Given the description of an element on the screen output the (x, y) to click on. 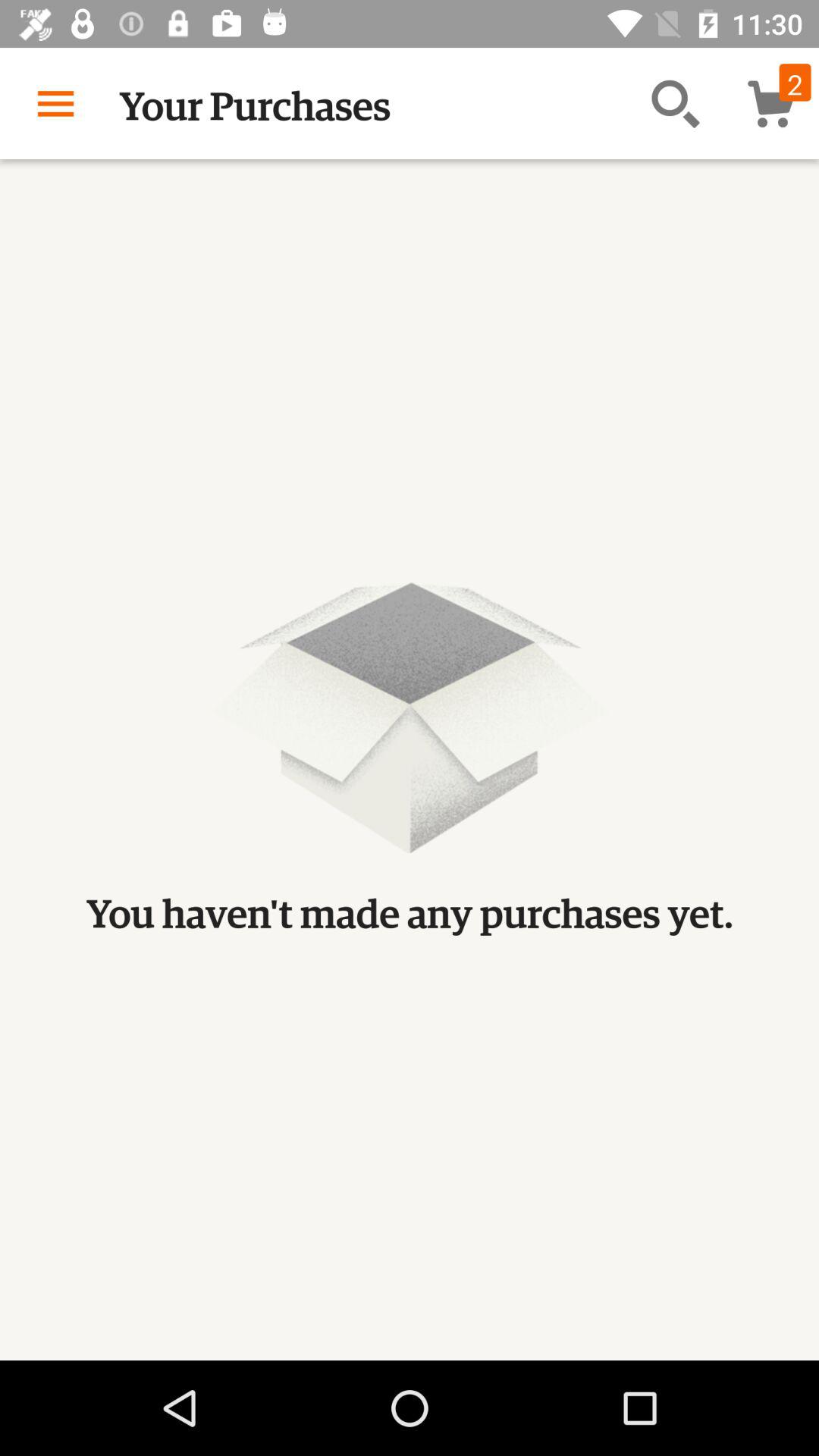
press item above you haven t icon (55, 103)
